Given the description of an element on the screen output the (x, y) to click on. 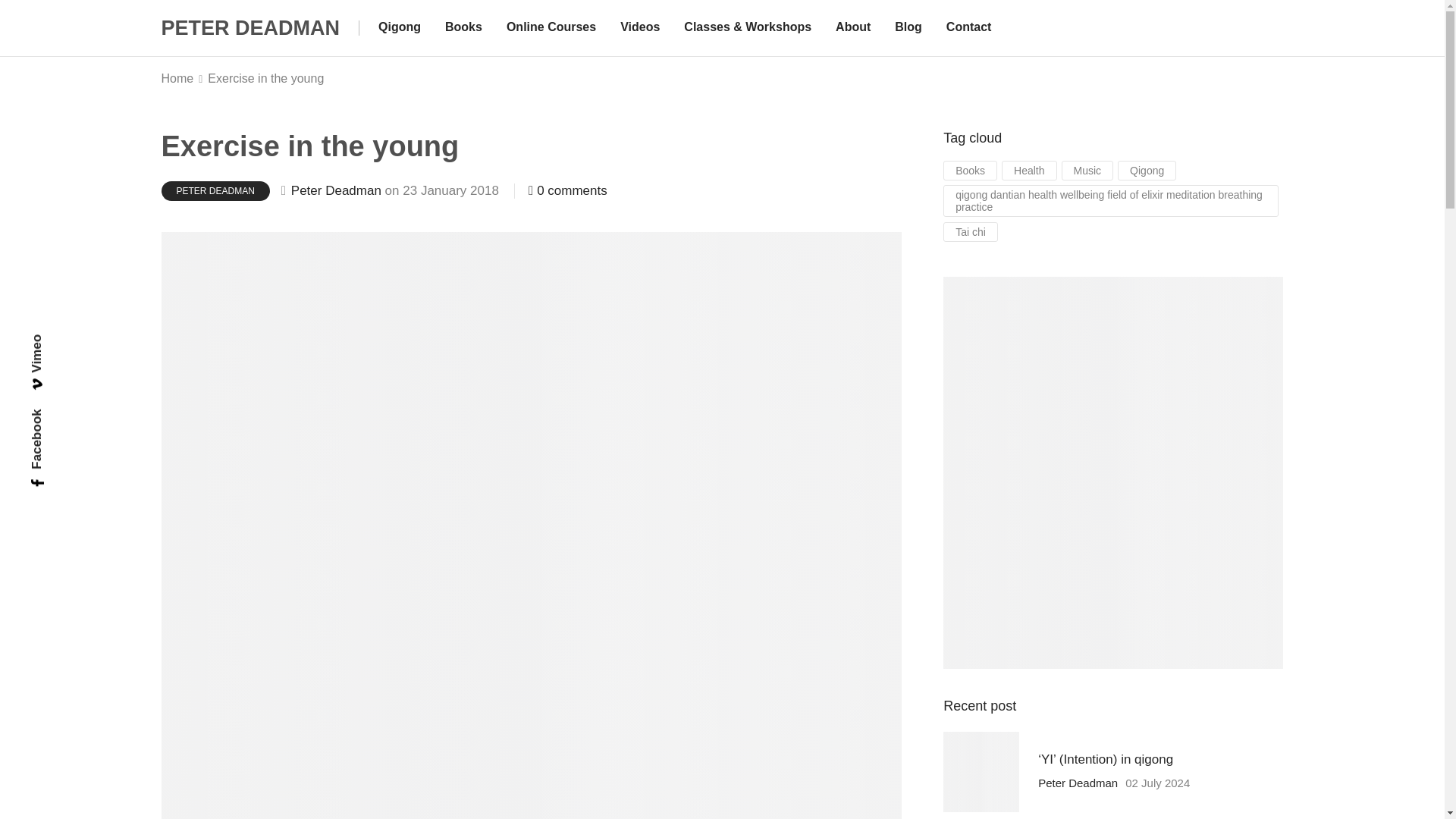
0 comments (567, 190)
Online Courses (550, 28)
PETER DEADMAN (249, 27)
PETER DEADMAN (214, 190)
Home (176, 78)
